Given the description of an element on the screen output the (x, y) to click on. 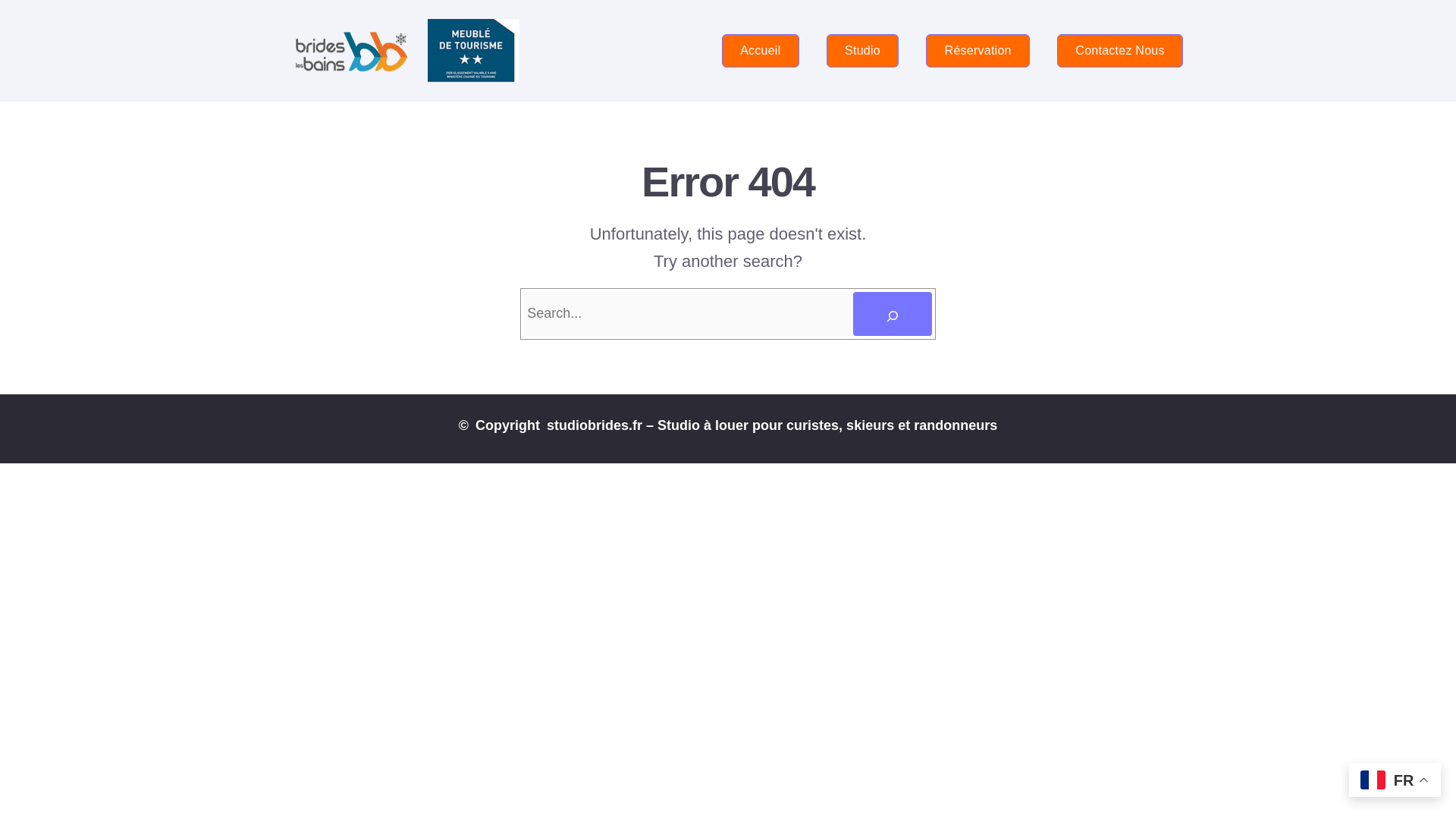
Studio (863, 50)
Contactez Nous (1119, 50)
Accueil (760, 50)
